Given the description of an element on the screen output the (x, y) to click on. 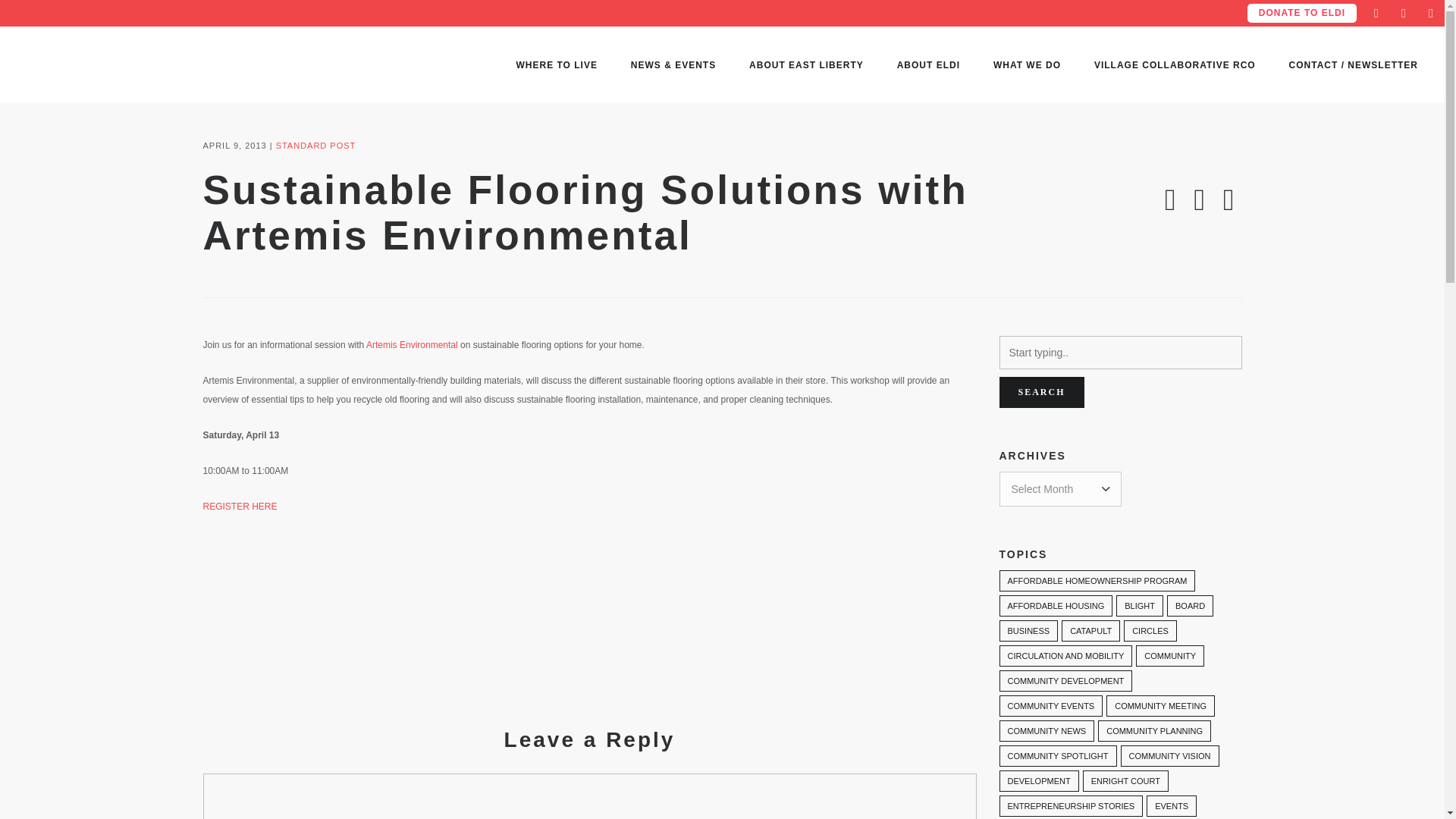
SEARCH (1041, 391)
WHAT WE DO (1026, 65)
DONATE TO ELDI (1302, 12)
VILLAGE COLLABORATIVE RCO (1174, 65)
SEARCH (1041, 391)
ABOUT EAST LIBERTY (806, 65)
ABOUT ELDI (928, 65)
WHERE TO LIVE (555, 65)
East Liberty Development Inc. (100, 64)
